Given the description of an element on the screen output the (x, y) to click on. 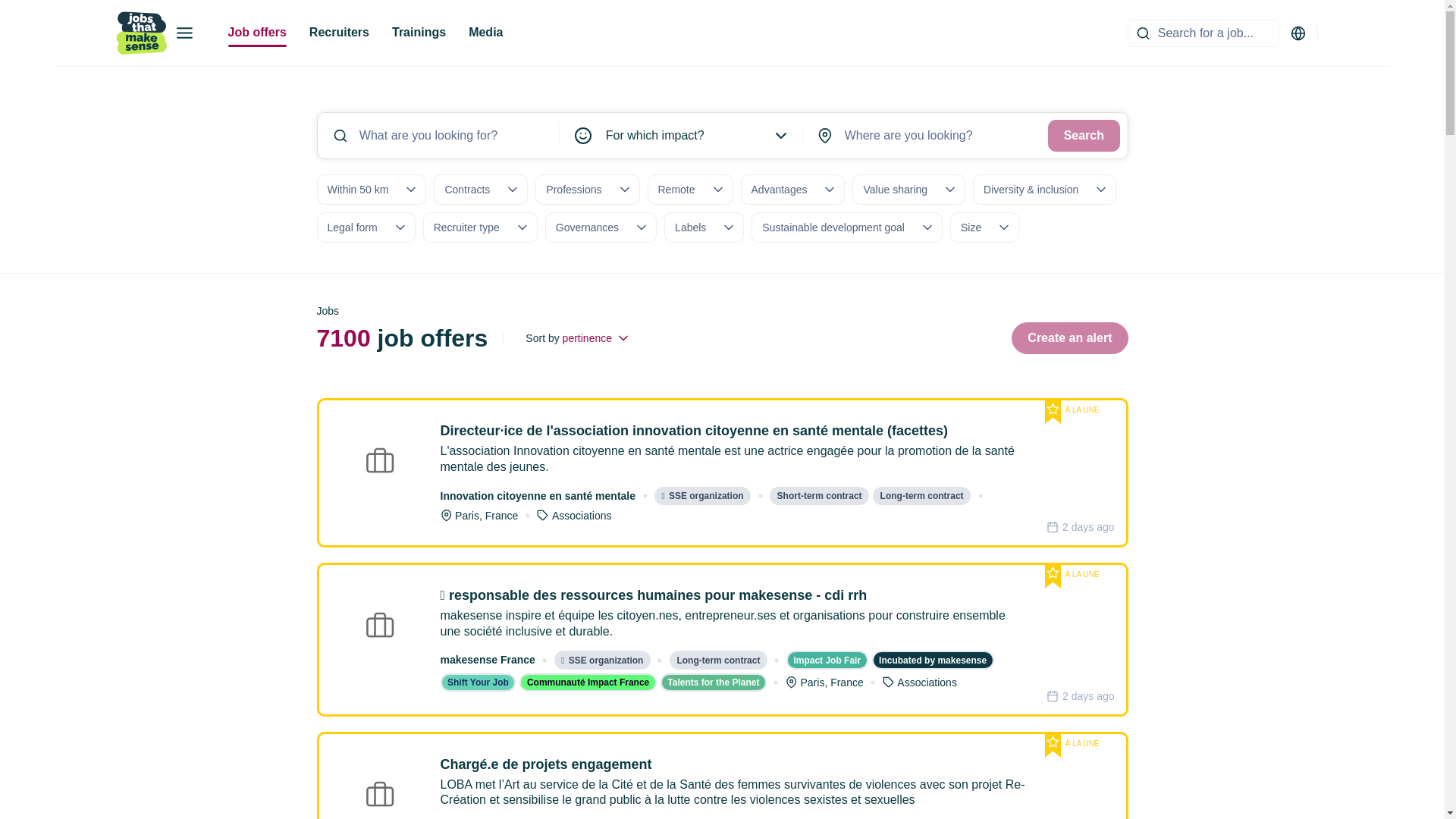
Media (485, 32)
Recruiters (338, 32)
Search (1082, 135)
Create an alert (1068, 338)
Trainings (418, 32)
Job offers (256, 32)
